Given the description of an element on the screen output the (x, y) to click on. 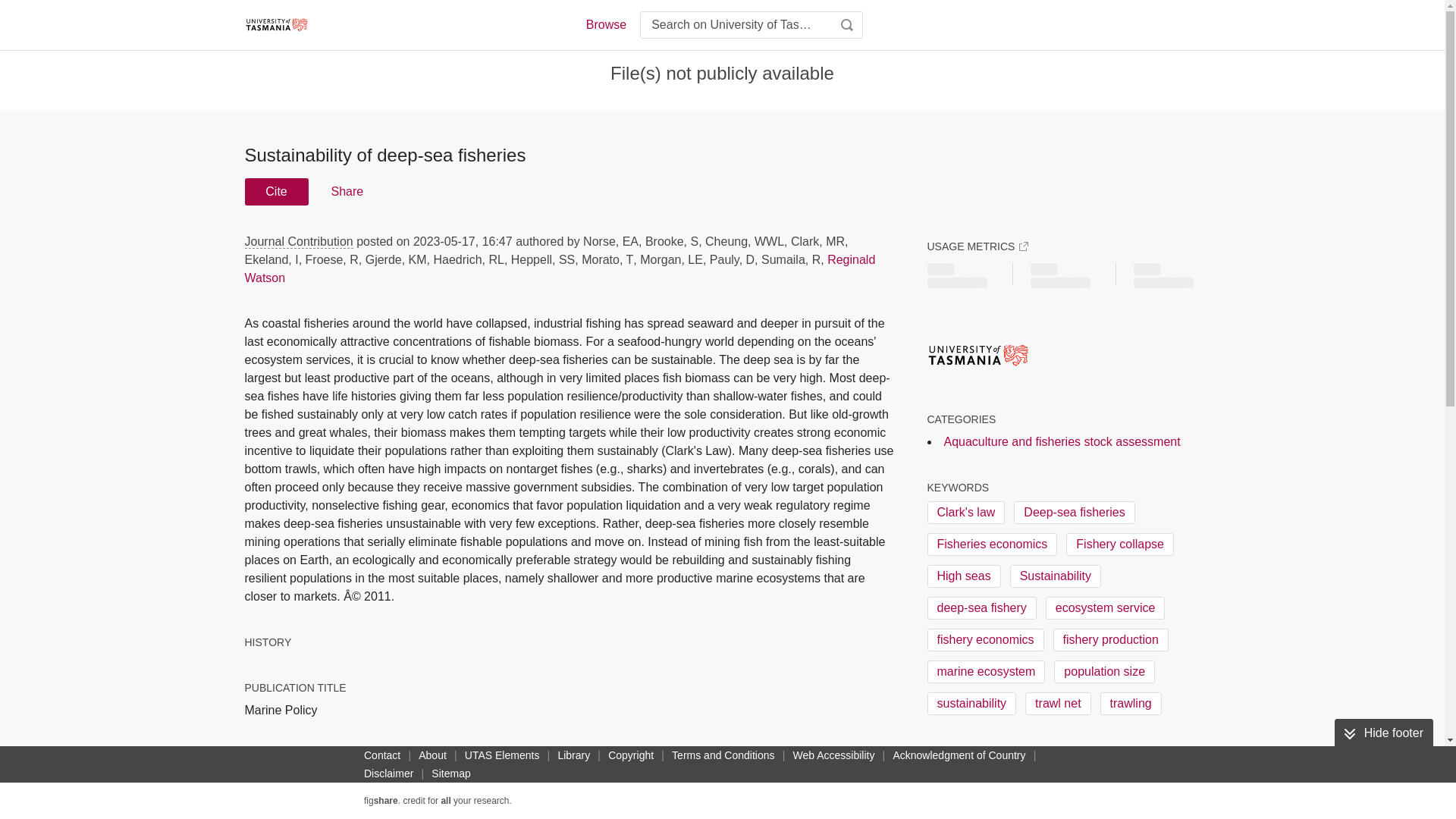
USAGE METRICS (976, 246)
Fishery collapse (1119, 544)
marine ecosystem (985, 671)
Browse (605, 24)
fishery production (1110, 639)
In Copyright (958, 773)
High seas (963, 576)
About (432, 755)
fishery economics (984, 639)
Deep-sea fisheries (1073, 512)
Copyright (631, 755)
Reginald Watson (559, 268)
deep-sea fishery (980, 608)
Contact (381, 755)
Sustainability (1055, 576)
